Given the description of an element on the screen output the (x, y) to click on. 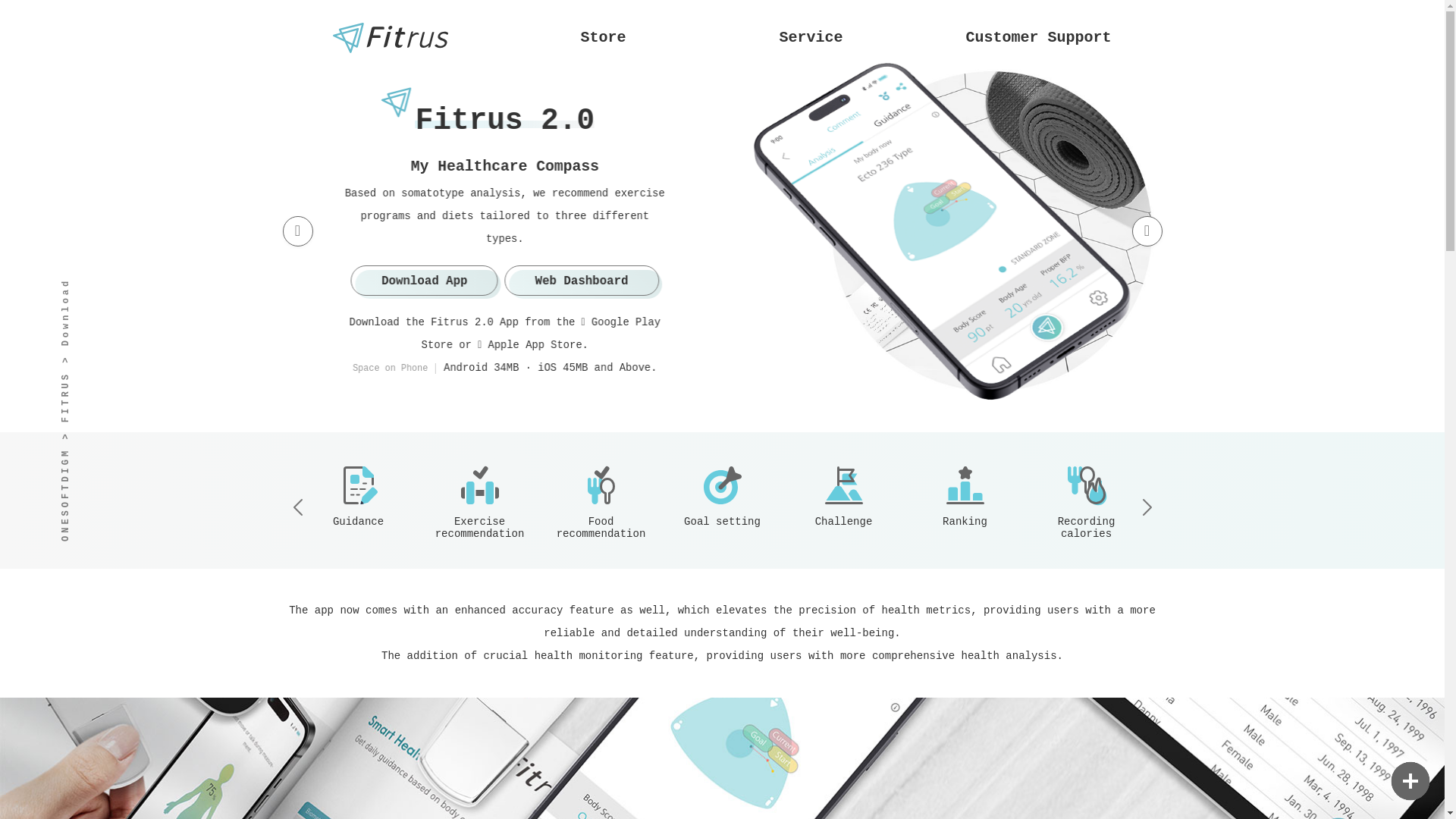
Service (810, 30)
Download App (442, 280)
Customer Support (1037, 30)
Web Dashboard (596, 280)
Store (603, 30)
